Given the description of an element on the screen output the (x, y) to click on. 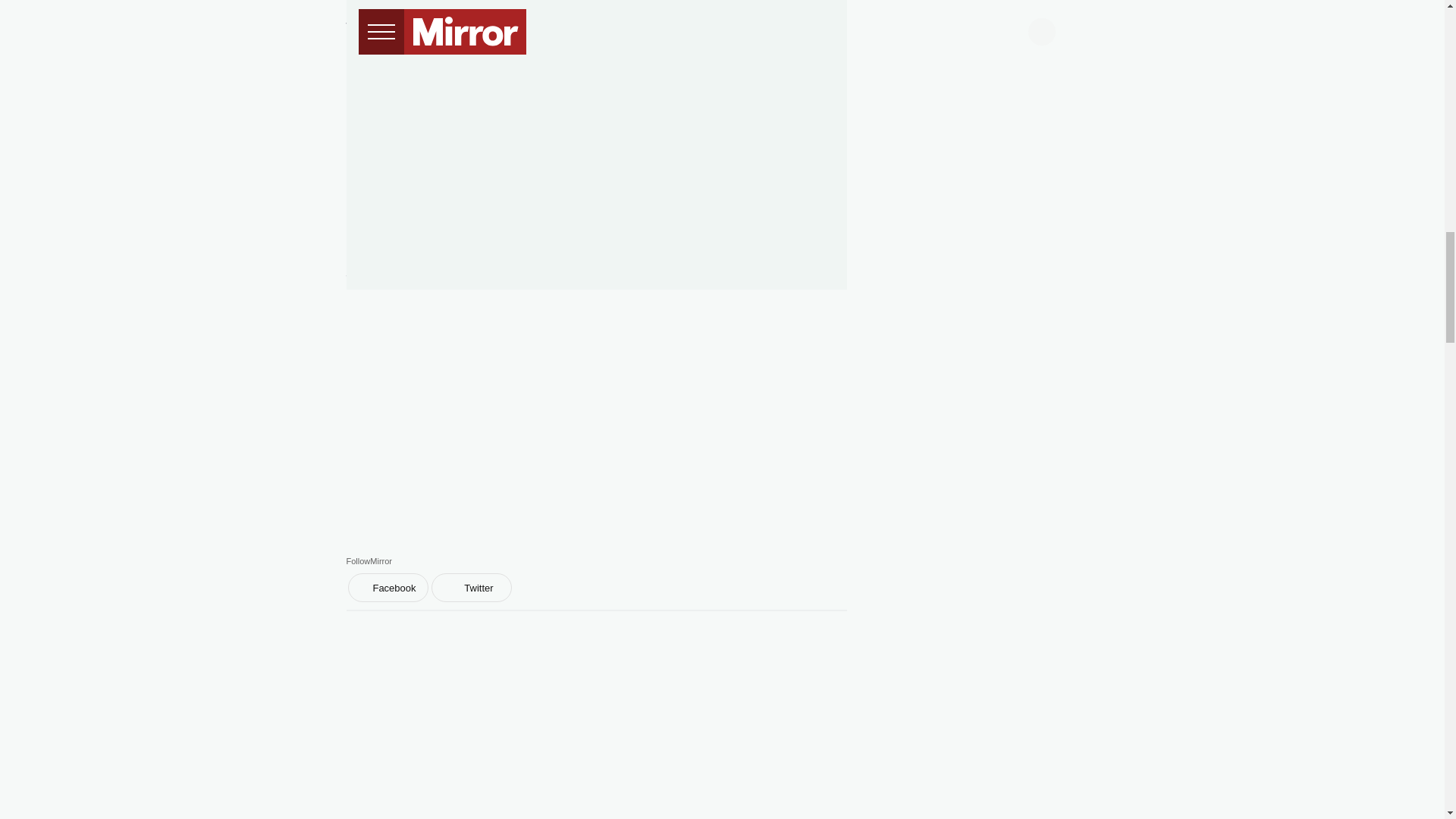
Facebook (387, 587)
Twitter (470, 587)
